Given the description of an element on the screen output the (x, y) to click on. 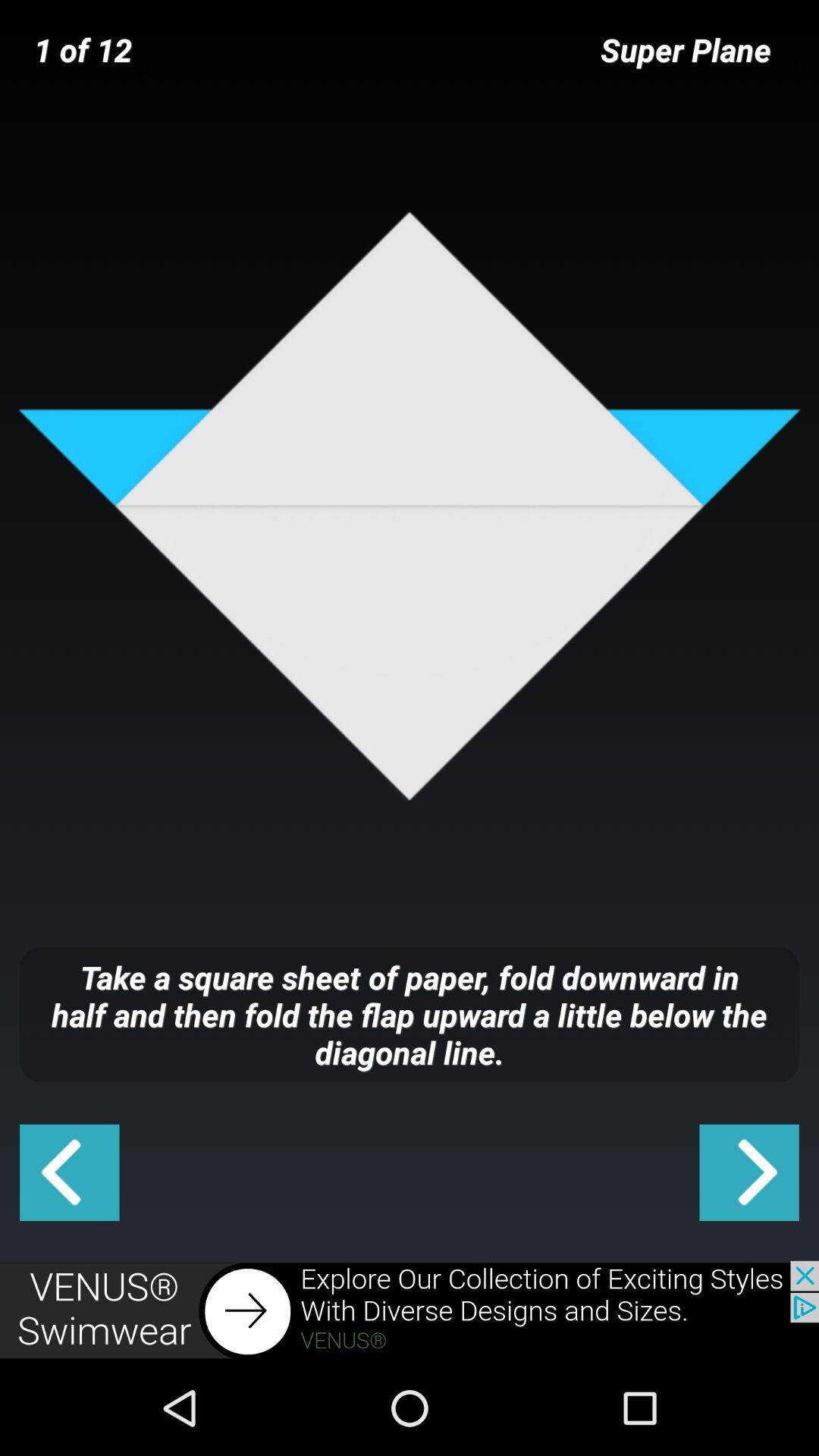
clickable advertisement (409, 1310)
